Given the description of an element on the screen output the (x, y) to click on. 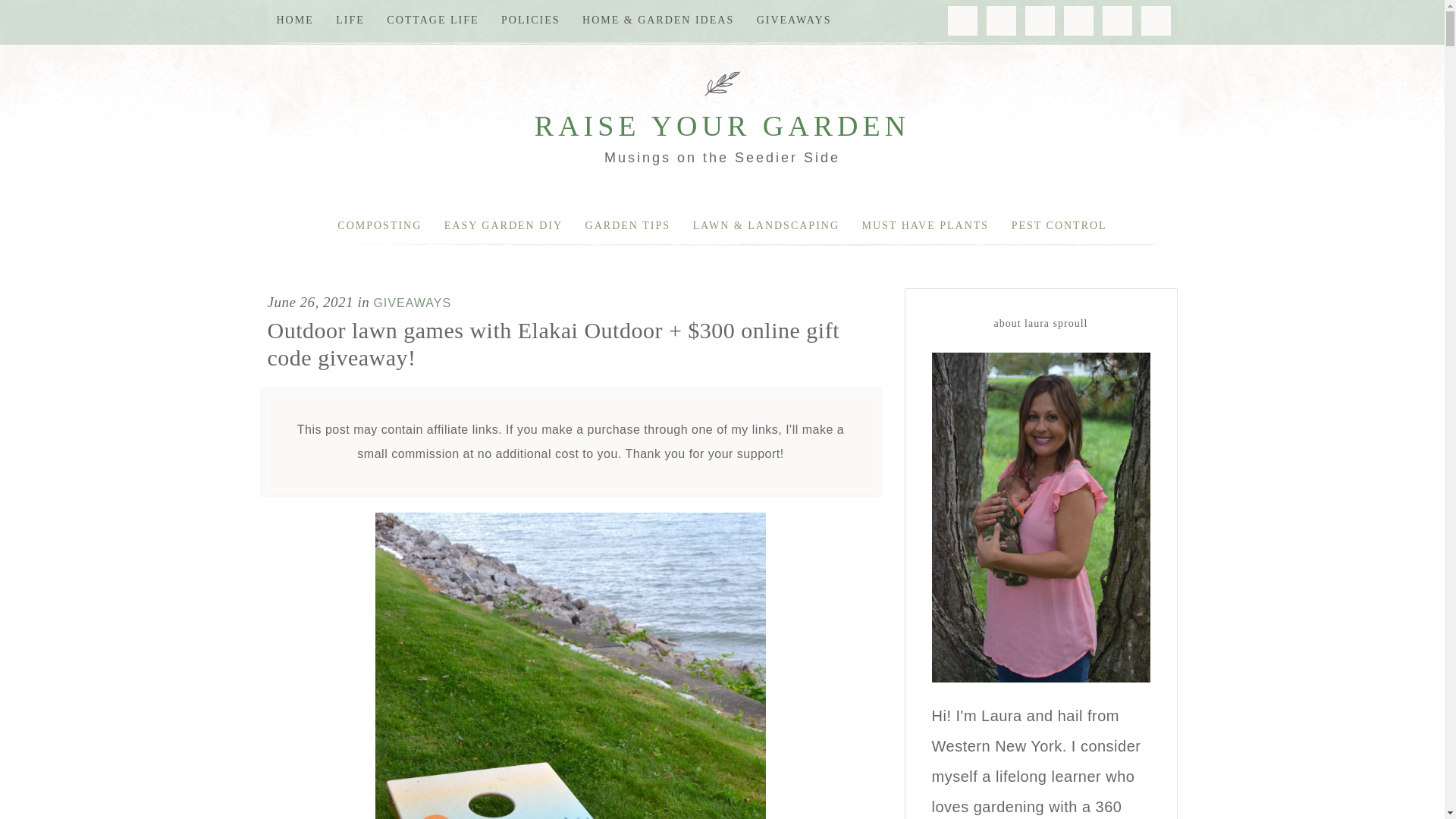
LIFE (350, 20)
GIVEAWAYS (794, 20)
RAISE YOUR GARDEN (722, 125)
COMPOSTING (379, 225)
HOME (293, 20)
EASY GARDEN DIY (503, 225)
COTTAGE LIFE (432, 20)
POLICIES (530, 20)
GIVEAWAYS (411, 302)
GARDEN TIPS (627, 225)
